Given the description of an element on the screen output the (x, y) to click on. 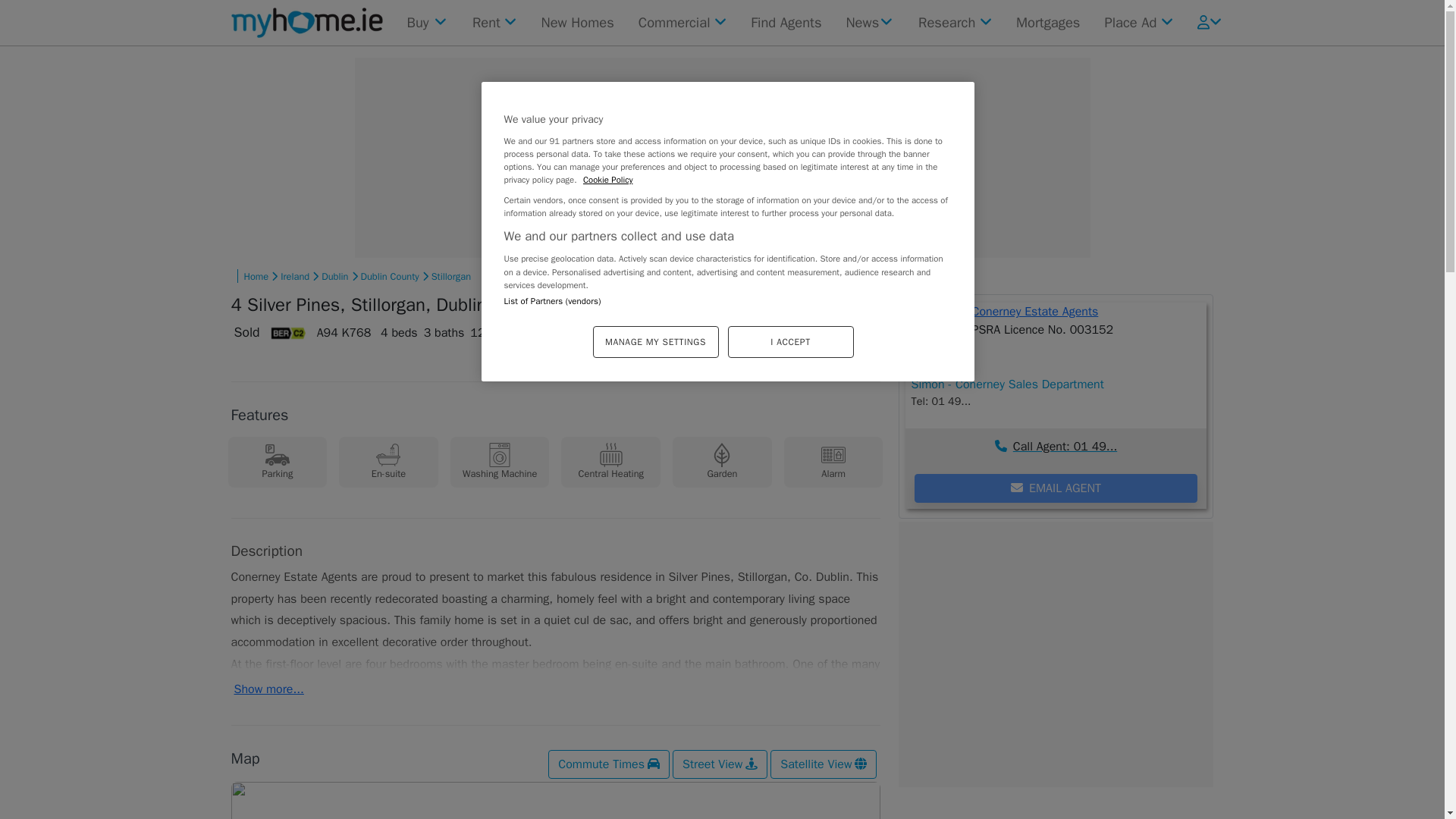
New Homes (577, 22)
Rent (493, 22)
Buy (426, 22)
